Given the description of an element on the screen output the (x, y) to click on. 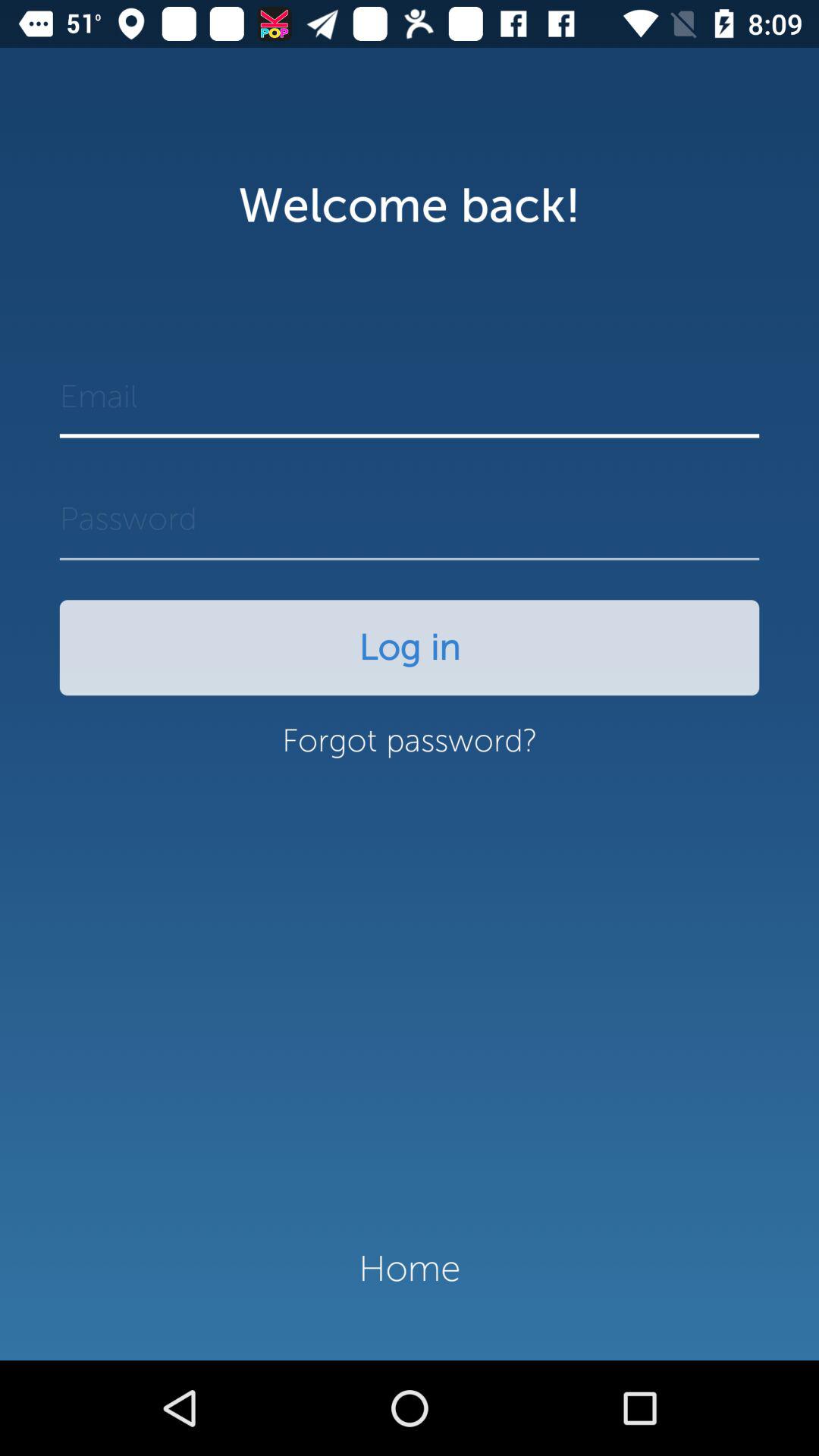
press item above forgot password? item (409, 647)
